Given the description of an element on the screen output the (x, y) to click on. 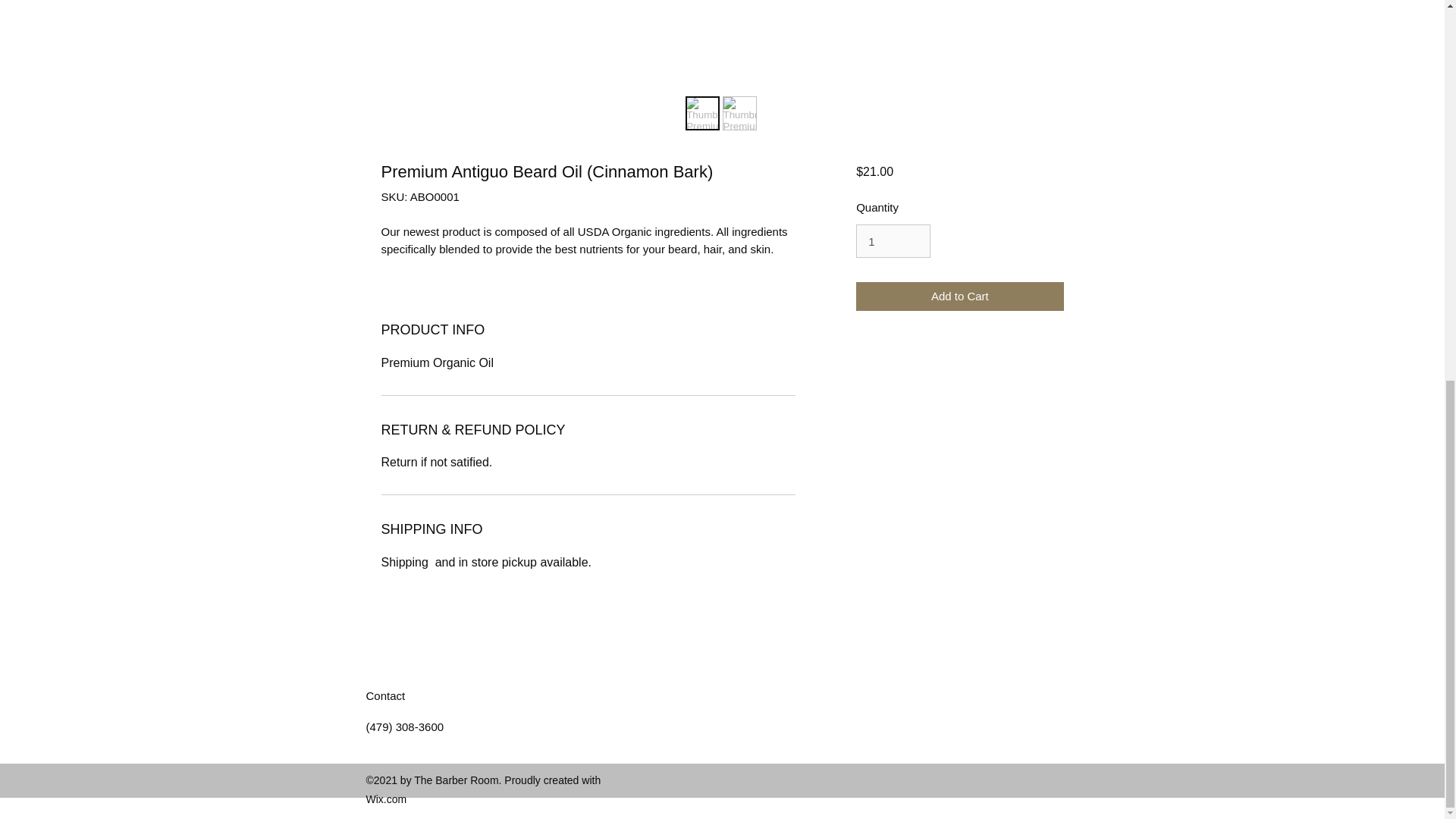
Add to Cart (959, 296)
1 (893, 240)
